Given the description of an element on the screen output the (x, y) to click on. 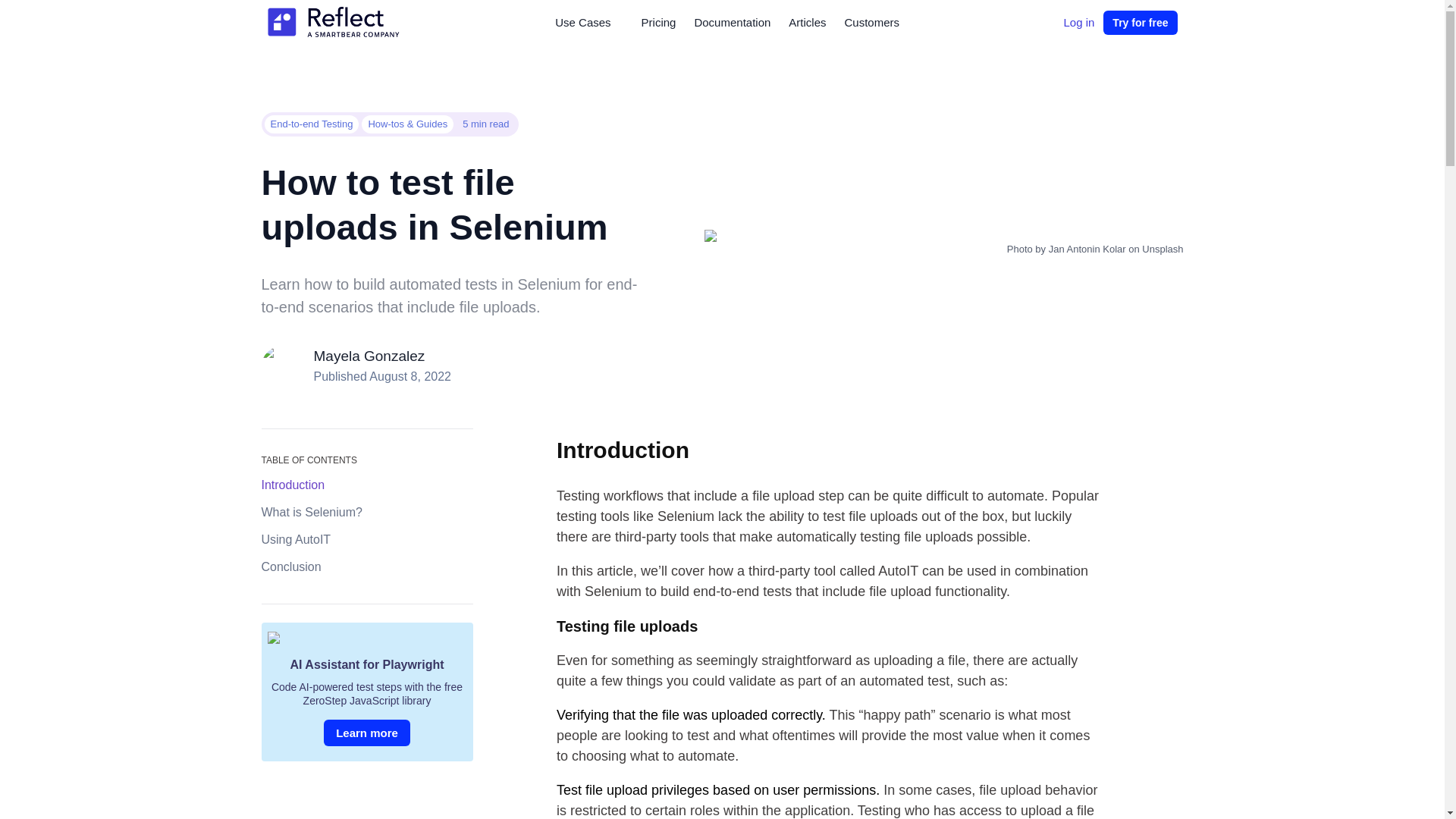
Photo by Jan Antonin Kolar on Unsplash (942, 249)
Pricing (658, 22)
Introduction (365, 486)
What is Selenium? (365, 513)
Documentation (731, 22)
Customers (871, 22)
Using AutoIT (365, 541)
Log in (1078, 22)
Articles (806, 22)
